Given the description of an element on the screen output the (x, y) to click on. 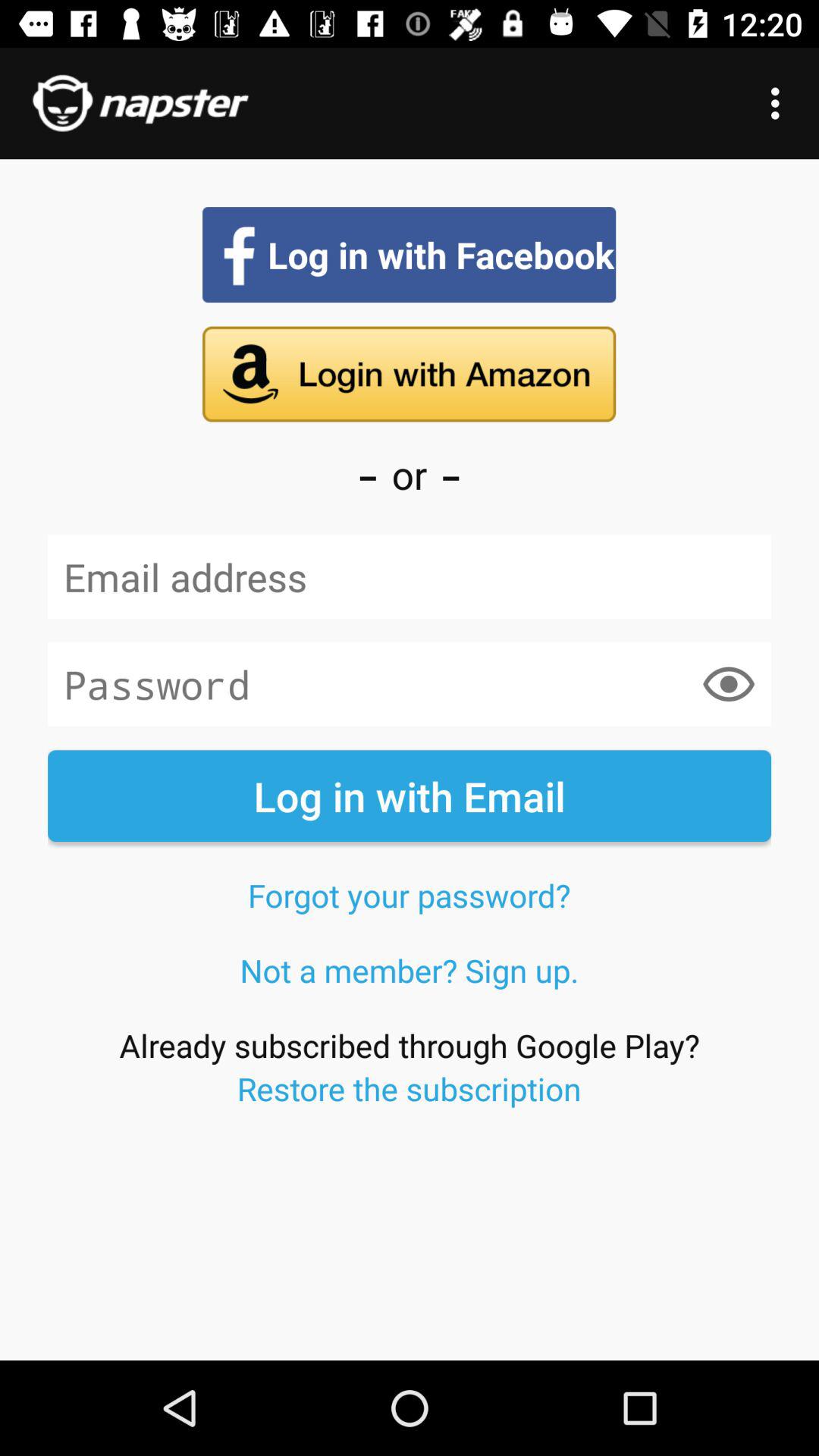
log in with your facebook account (408, 254)
